Given the description of an element on the screen output the (x, y) to click on. 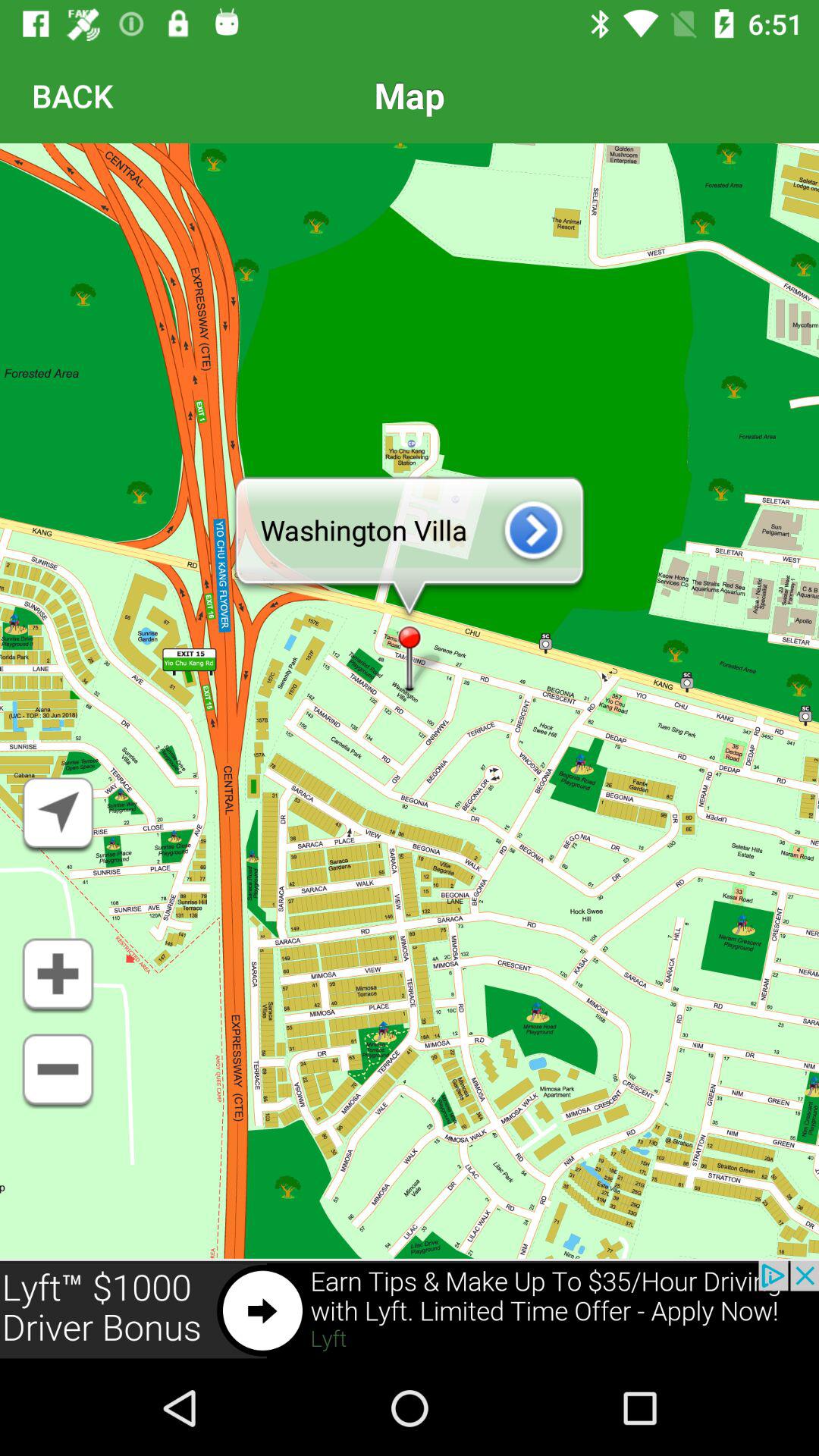
zooms the map out (57, 1071)
